Given the description of an element on the screen output the (x, y) to click on. 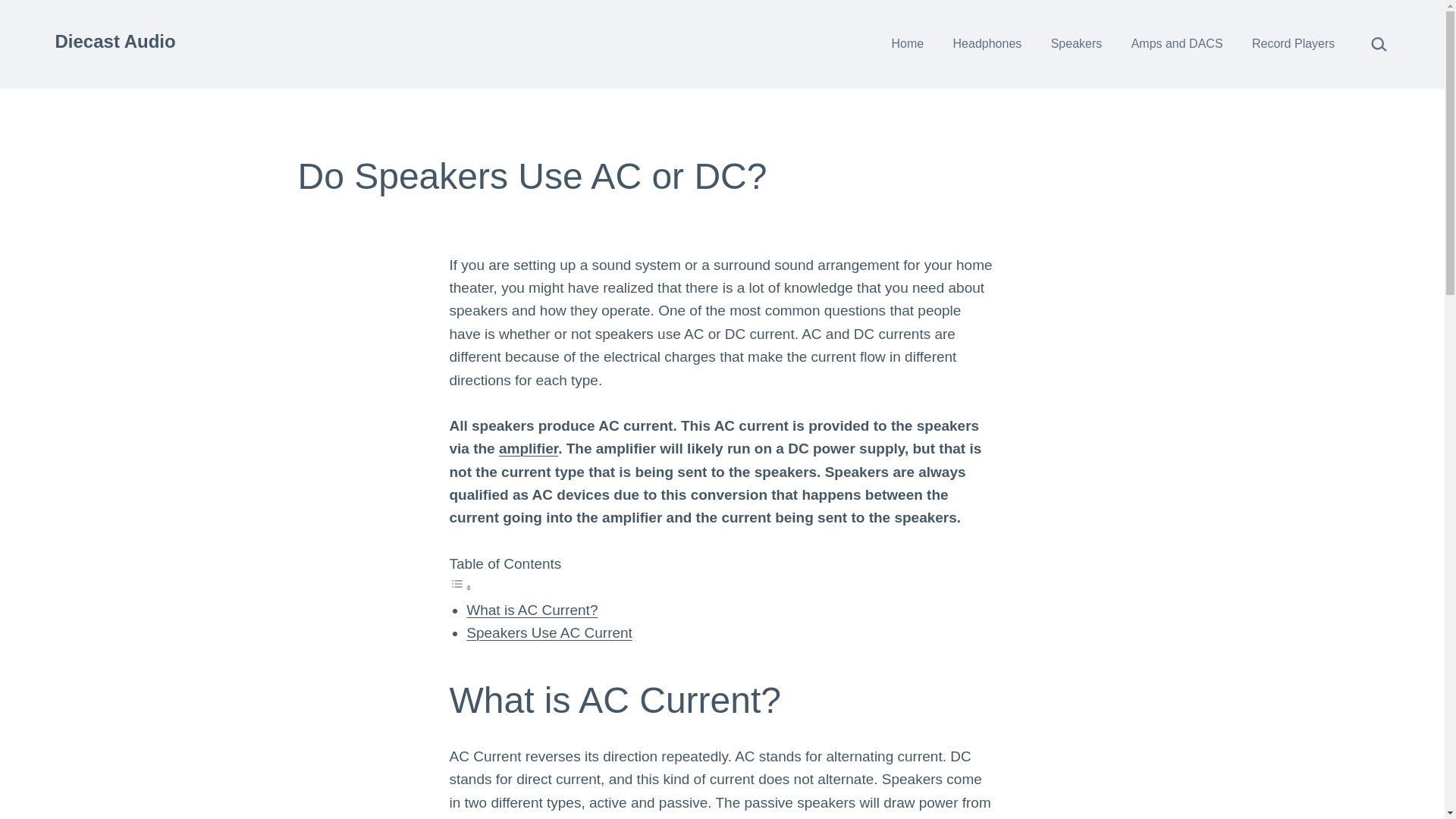
Amps and DACS (1176, 44)
Headphones (986, 44)
Record Players (1293, 44)
amplifier (528, 448)
Speakers Use AC Current (548, 632)
Diecast Audio (114, 41)
What is AC Current? (530, 609)
Speakers Use AC Current (548, 632)
What is AC Current? (530, 609)
Speakers (1076, 44)
Home (906, 44)
